Given the description of an element on the screen output the (x, y) to click on. 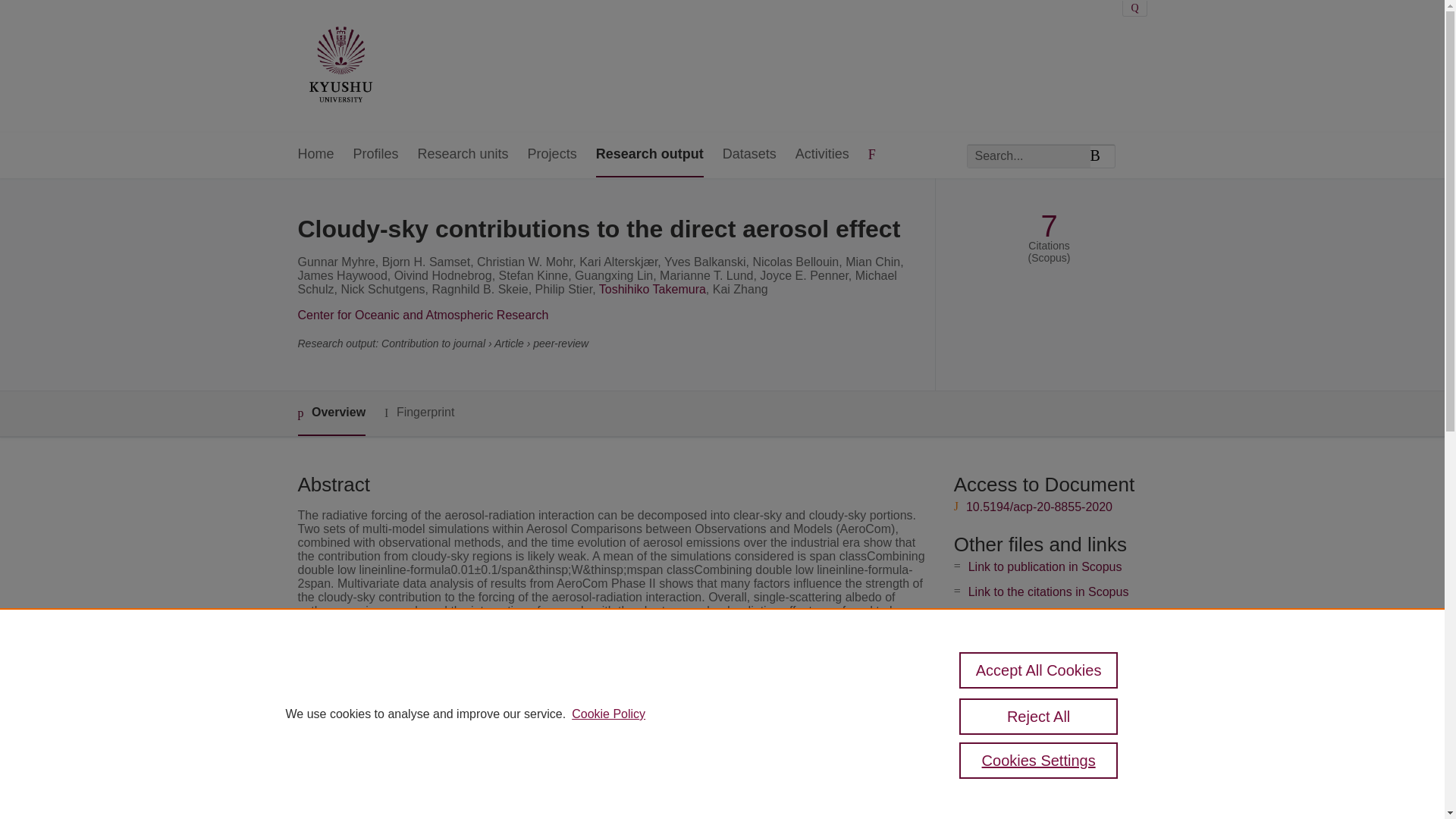
Center for Oceanic and Atmospheric Research (422, 314)
Link to the citations in Scopus (1048, 591)
Research units (462, 154)
Atmospheric Chemistry and Physics (604, 759)
Projects (551, 154)
Link to publication in Scopus (1045, 566)
Activities (821, 154)
Fingerprint (419, 412)
Datasets (749, 154)
Toshihiko Takemura (652, 288)
Overview (331, 413)
Profiles (375, 154)
Research output (649, 154)
